Given the description of an element on the screen output the (x, y) to click on. 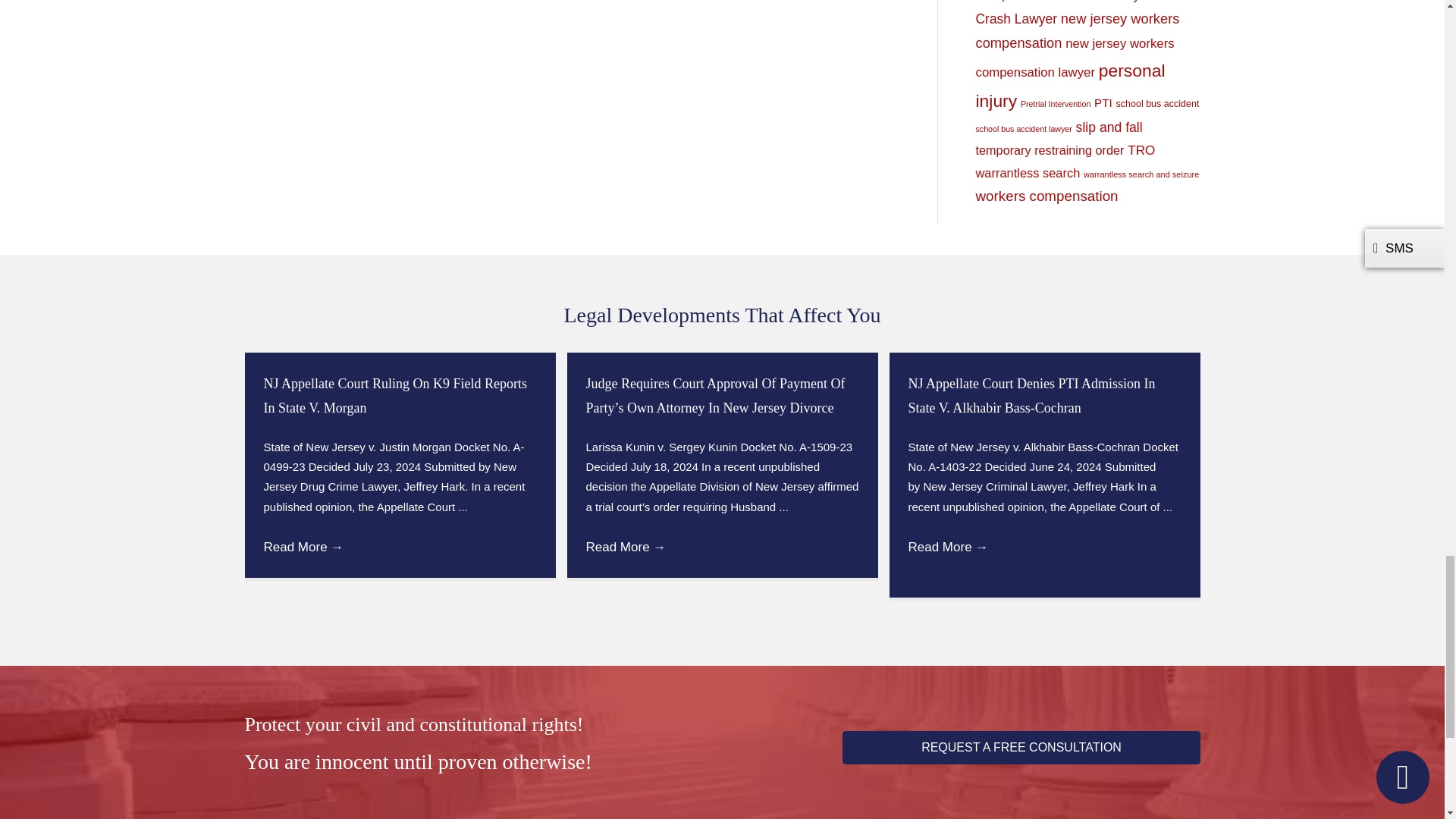
Read More (625, 546)
Click Here (1021, 747)
Read More (948, 546)
Read More (303, 546)
